Given the description of an element on the screen output the (x, y) to click on. 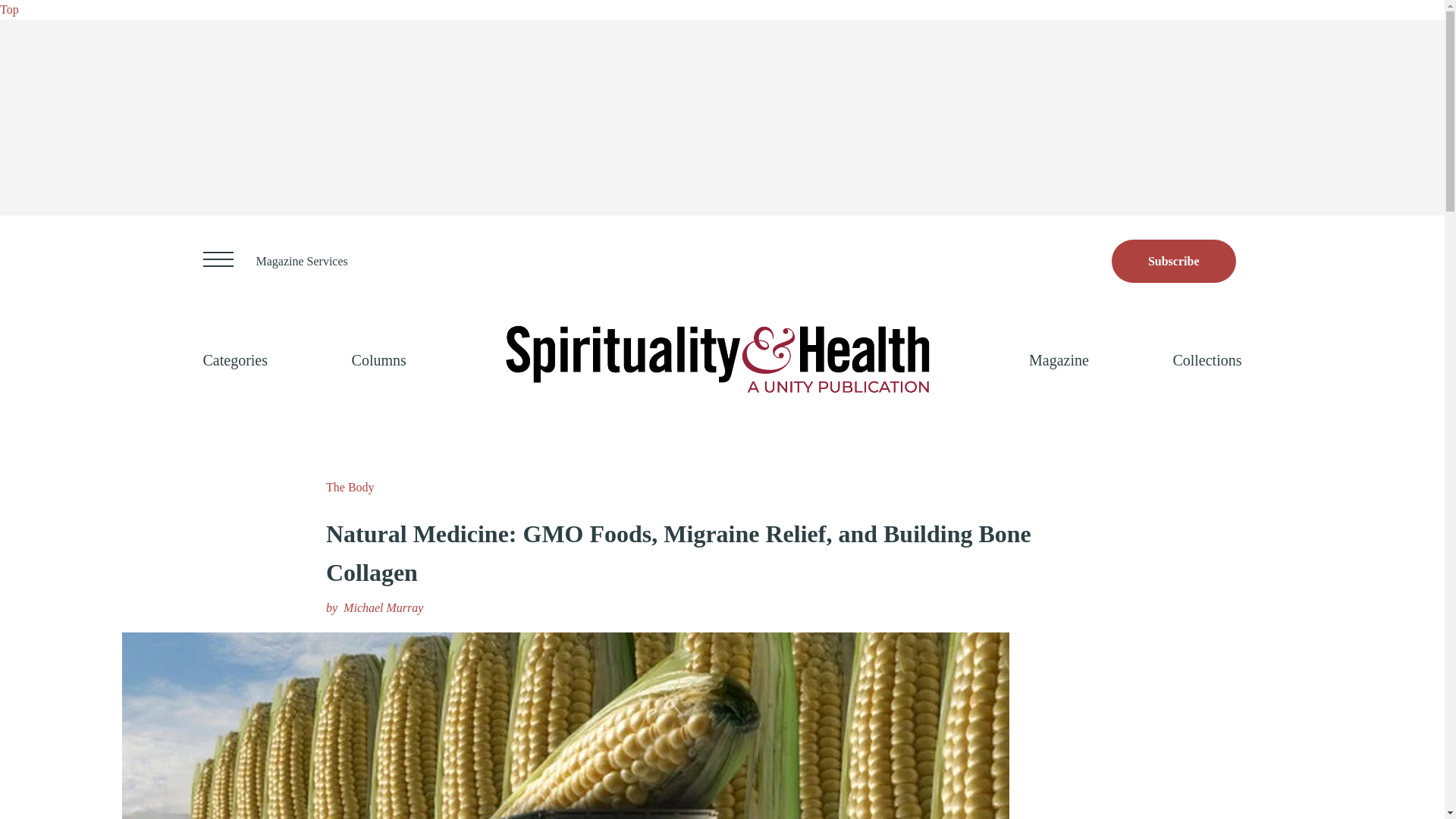
Collections (1206, 359)
Magazine Services (301, 260)
Top (9, 9)
Categories (235, 359)
Opens to Store site (1174, 261)
Subscribe (1174, 261)
Magazine (1059, 359)
Columns (379, 359)
